Given the description of an element on the screen output the (x, y) to click on. 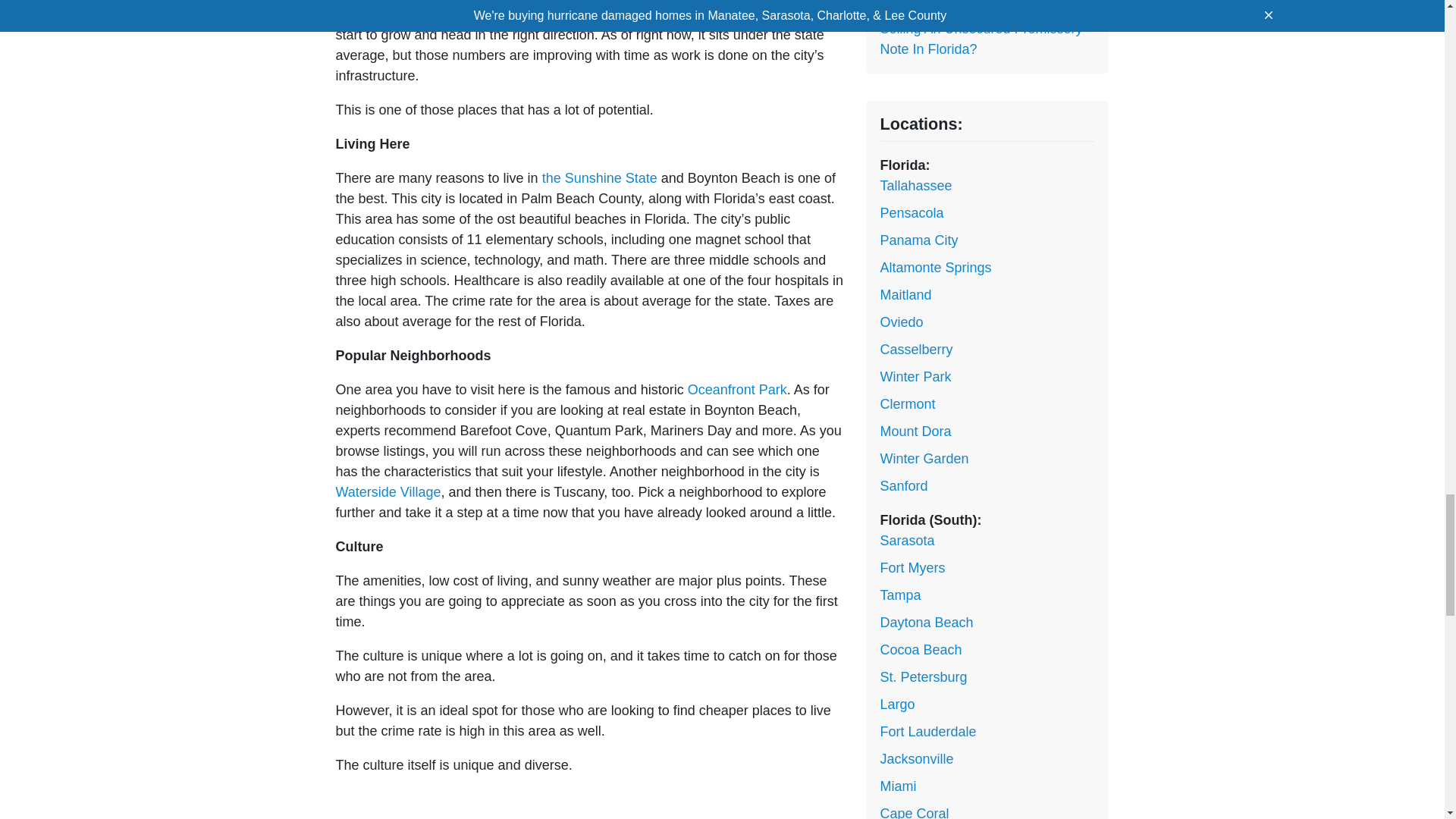
Clermont (906, 403)
Waterside Village (387, 491)
Winter Park (914, 376)
Maitland (905, 294)
Casselberry (915, 349)
Mount Dora (914, 431)
Oviedo (901, 322)
the Sunshine State (599, 177)
Altamonte Springs (935, 267)
Panama City (918, 240)
Who can buy my home with cash in Boynton Beach Florida? (986, 4)
Oceanfront Park (737, 389)
Tallahassee (915, 185)
Selling An Unsecured Promissory Note In Florida? (980, 38)
Pensacola (911, 212)
